Given the description of an element on the screen output the (x, y) to click on. 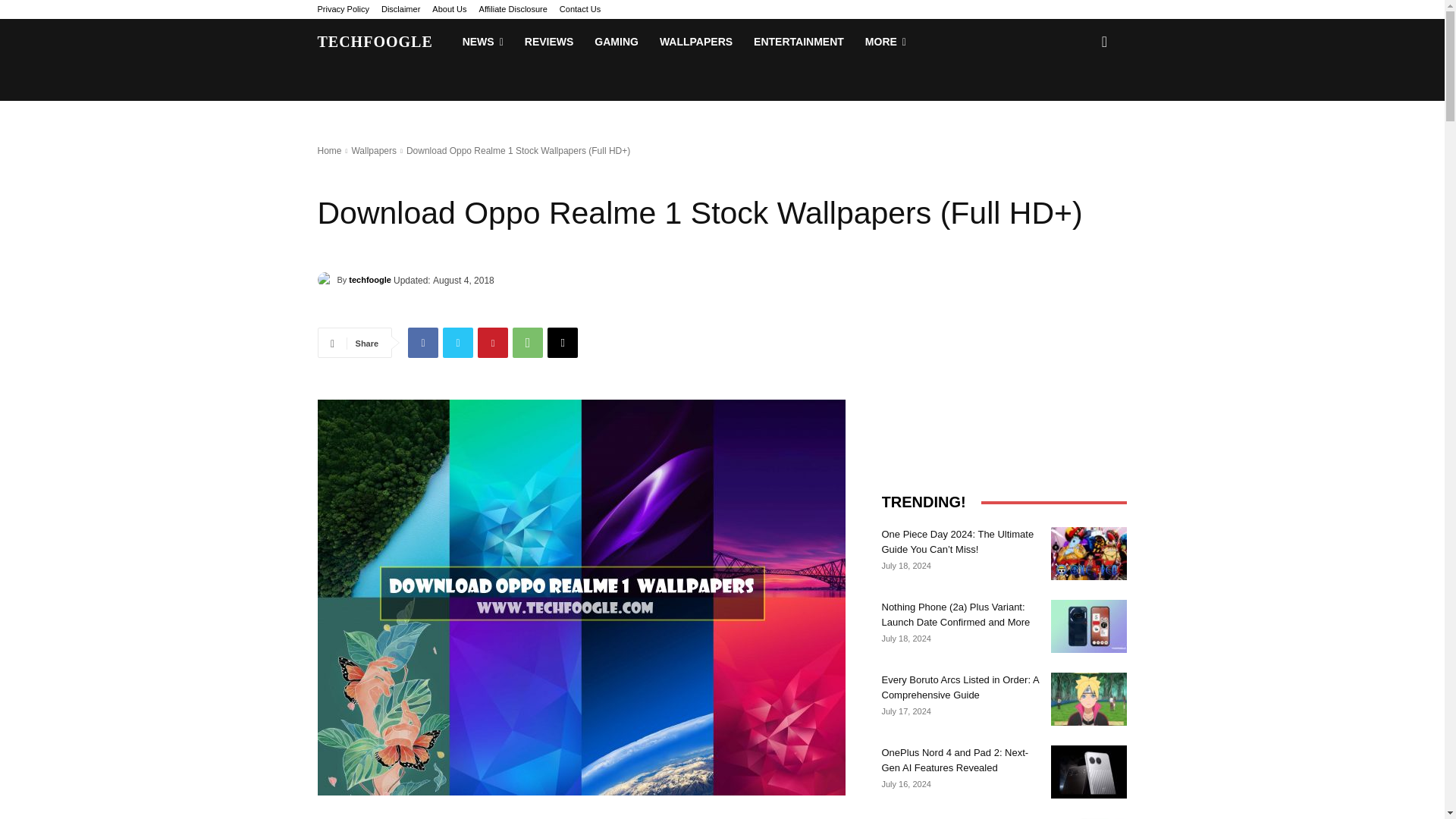
GAMING (616, 41)
Contact Us (579, 8)
Privacy Policy (342, 8)
TECHFOOGLE (374, 41)
Disclaimer (400, 8)
Affiliate Disclosure (513, 8)
About Us (448, 8)
NEWS (482, 41)
REVIEWS (549, 41)
